Given the description of an element on the screen output the (x, y) to click on. 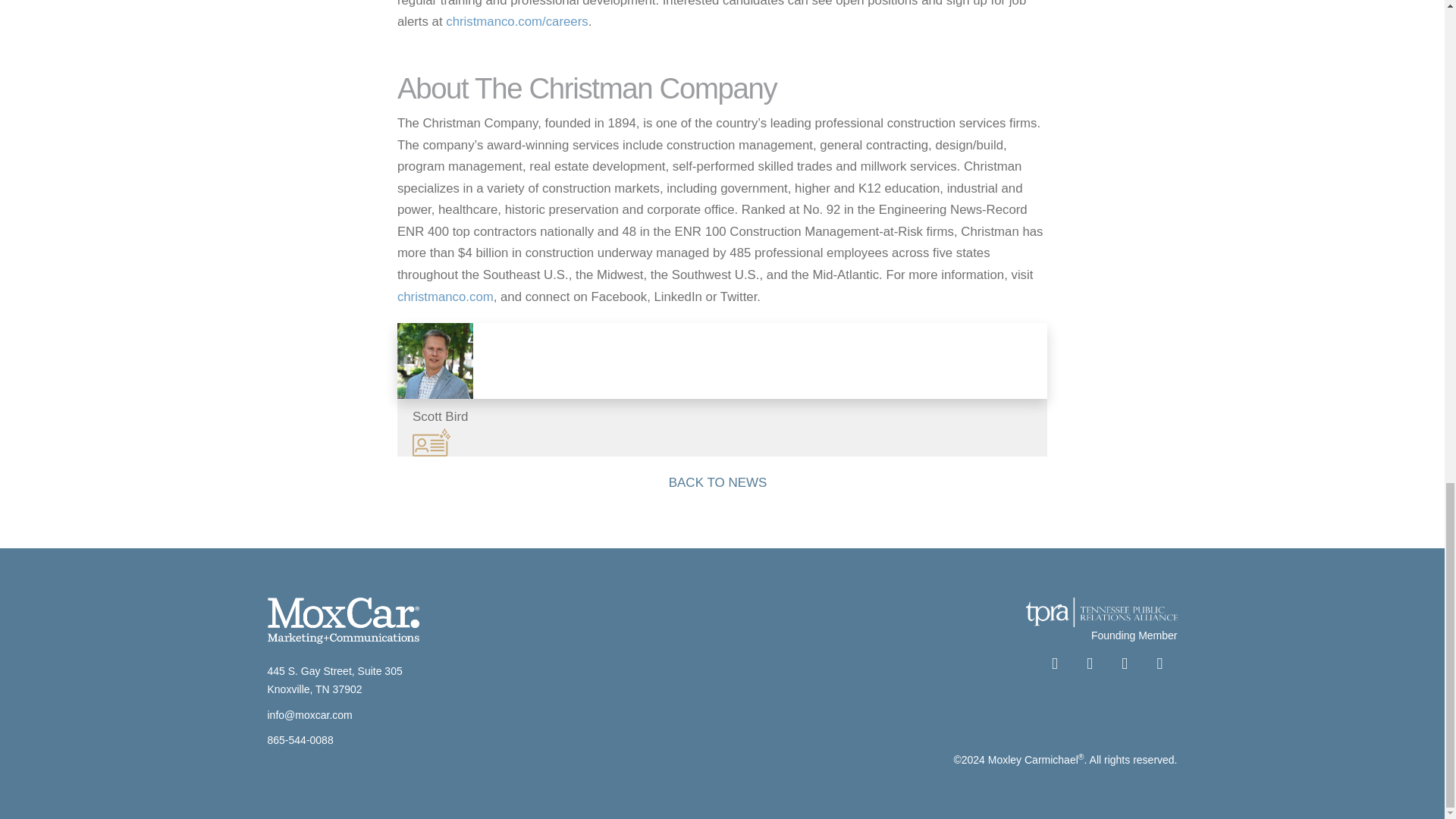
BACK TO NEWS (722, 484)
Knoxville, TN 37902 (313, 689)
865-544-0088 (299, 739)
Scott Bird (721, 389)
445 S. Gay Street, Suite 305 (333, 671)
christmanco.com (445, 296)
